Given the description of an element on the screen output the (x, y) to click on. 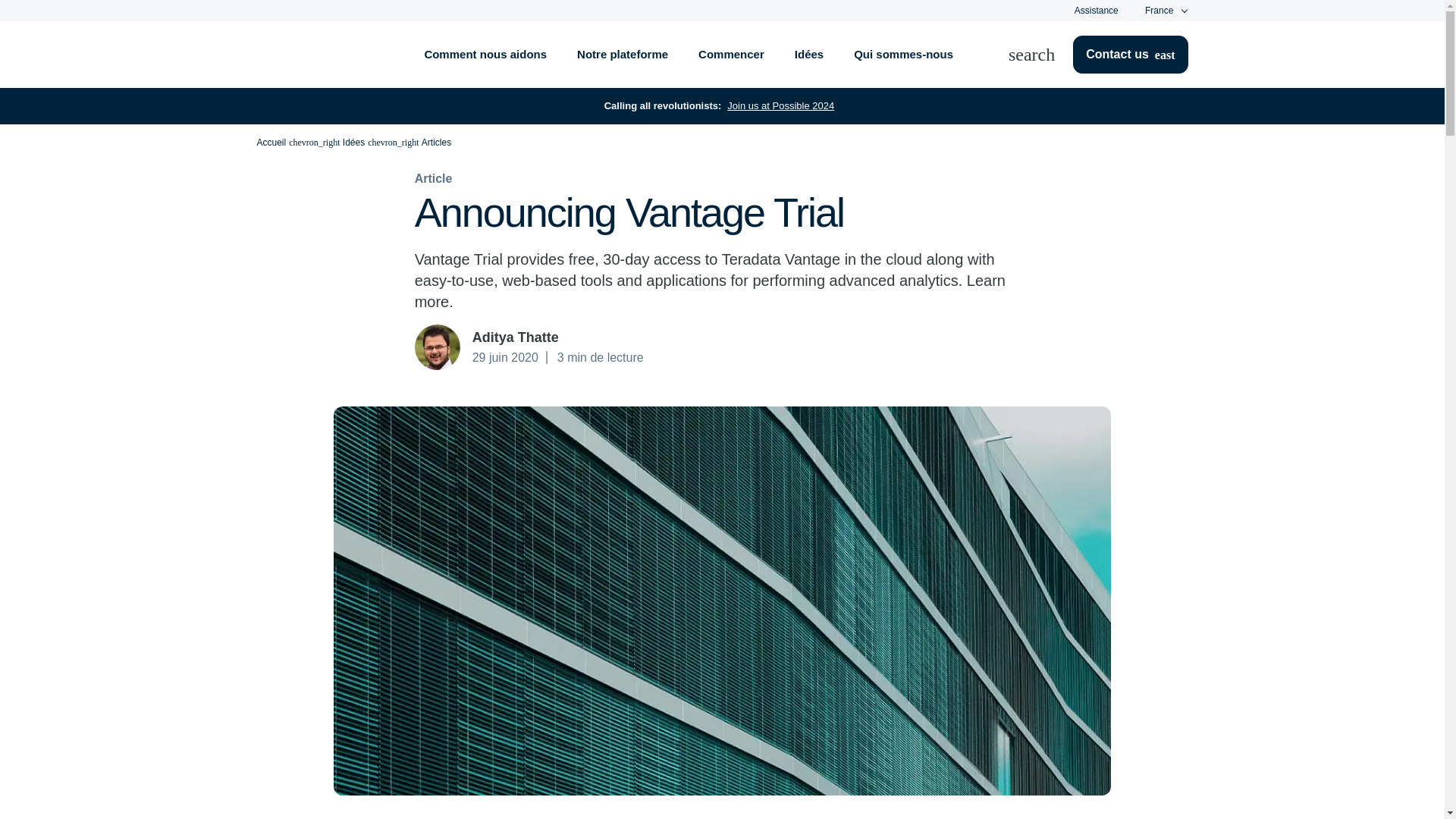
Qui sommes-nous (903, 54)
Assistance (1096, 9)
Contact us (1130, 54)
France (1159, 10)
Comment nous aidons (485, 54)
search (1041, 54)
Notre plateforme (622, 54)
Commencer (730, 54)
Aditya Thatte (437, 347)
